Given the description of an element on the screen output the (x, y) to click on. 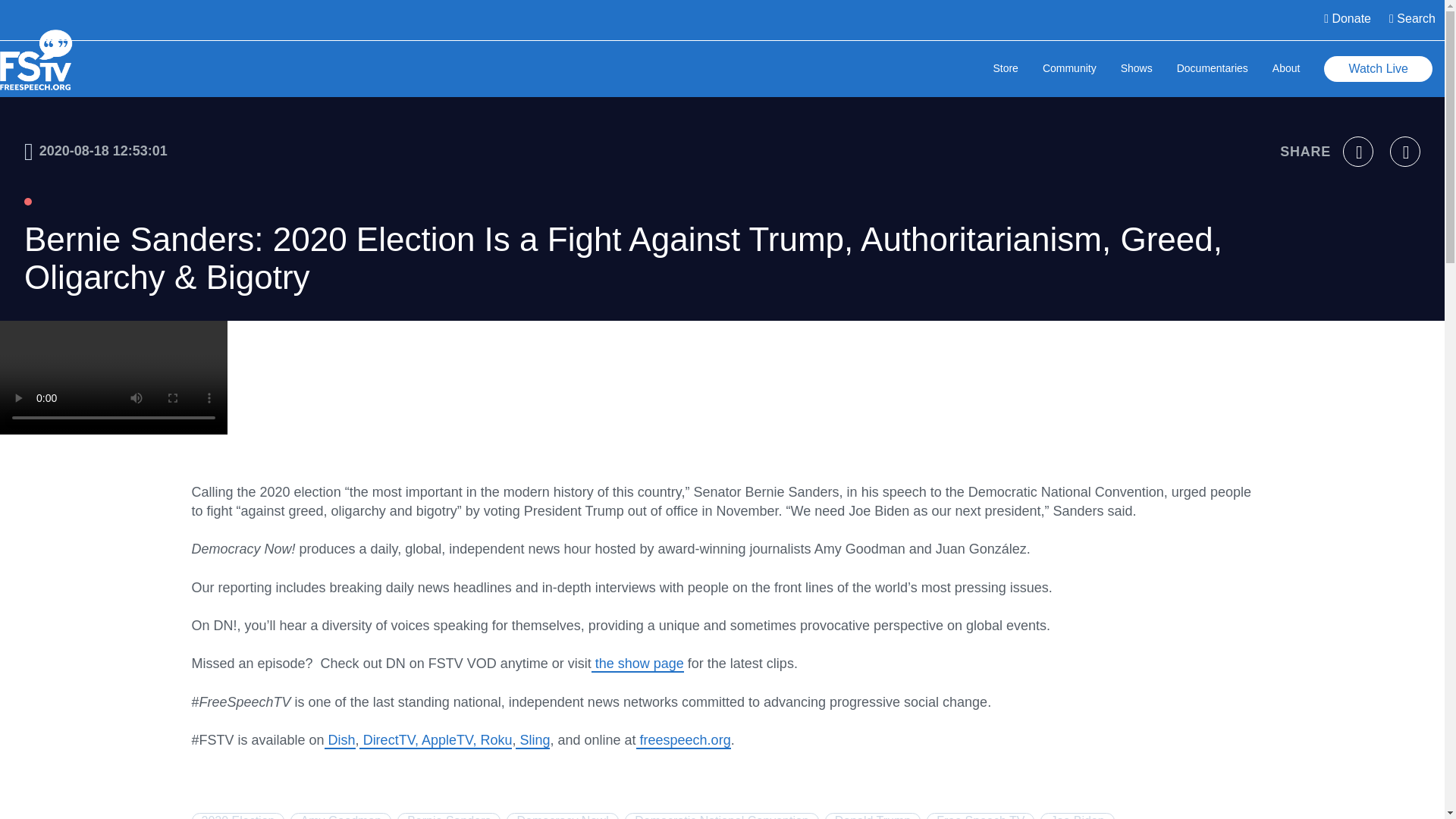
Community (1069, 69)
Donate (1347, 20)
Store (1004, 69)
Search (1412, 20)
Documentaries (1211, 69)
Watch Live (1377, 68)
Shows (1137, 69)
About (1286, 69)
